Given the description of an element on the screen output the (x, y) to click on. 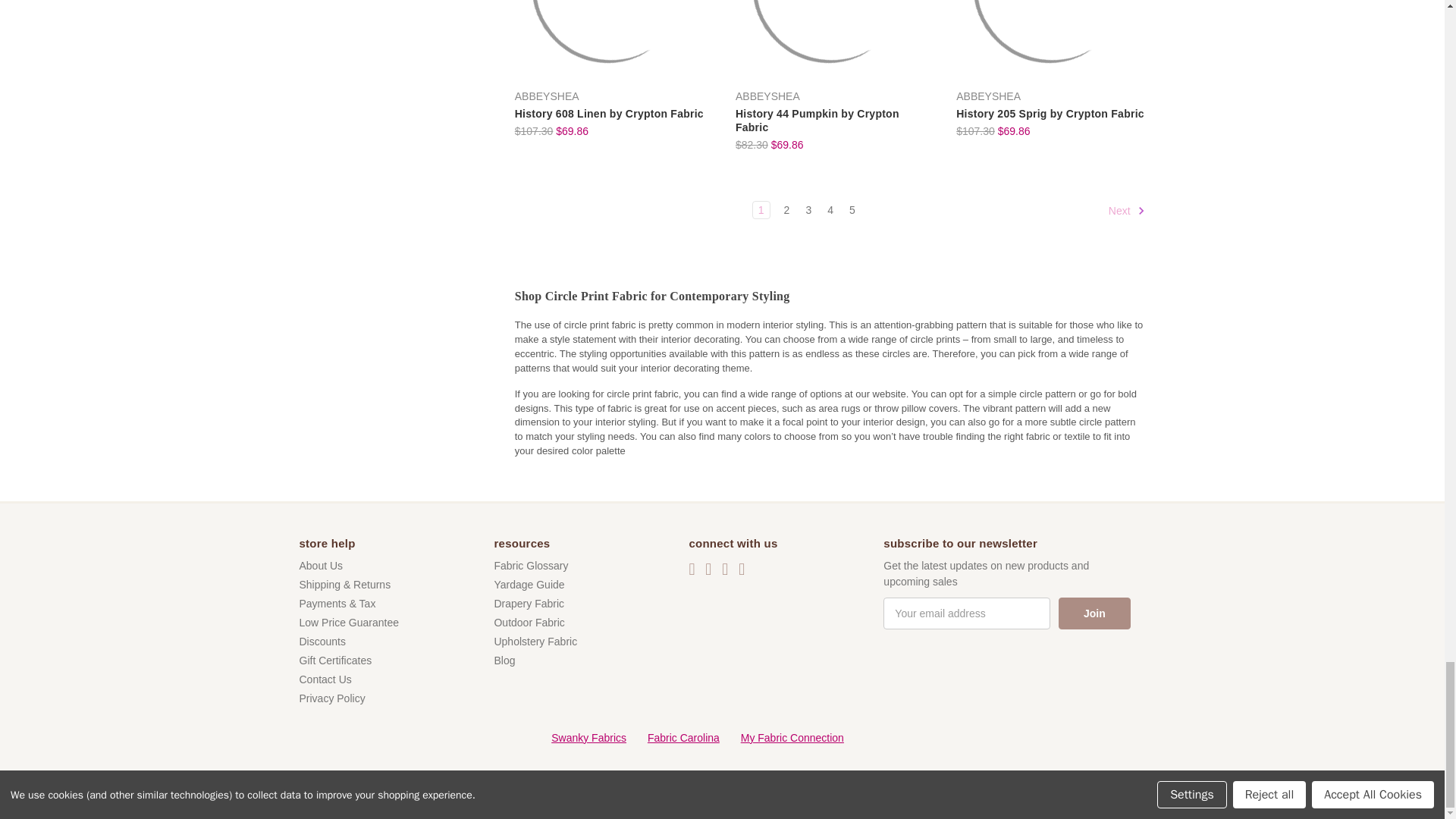
Join (1094, 613)
